Given the description of an element on the screen output the (x, y) to click on. 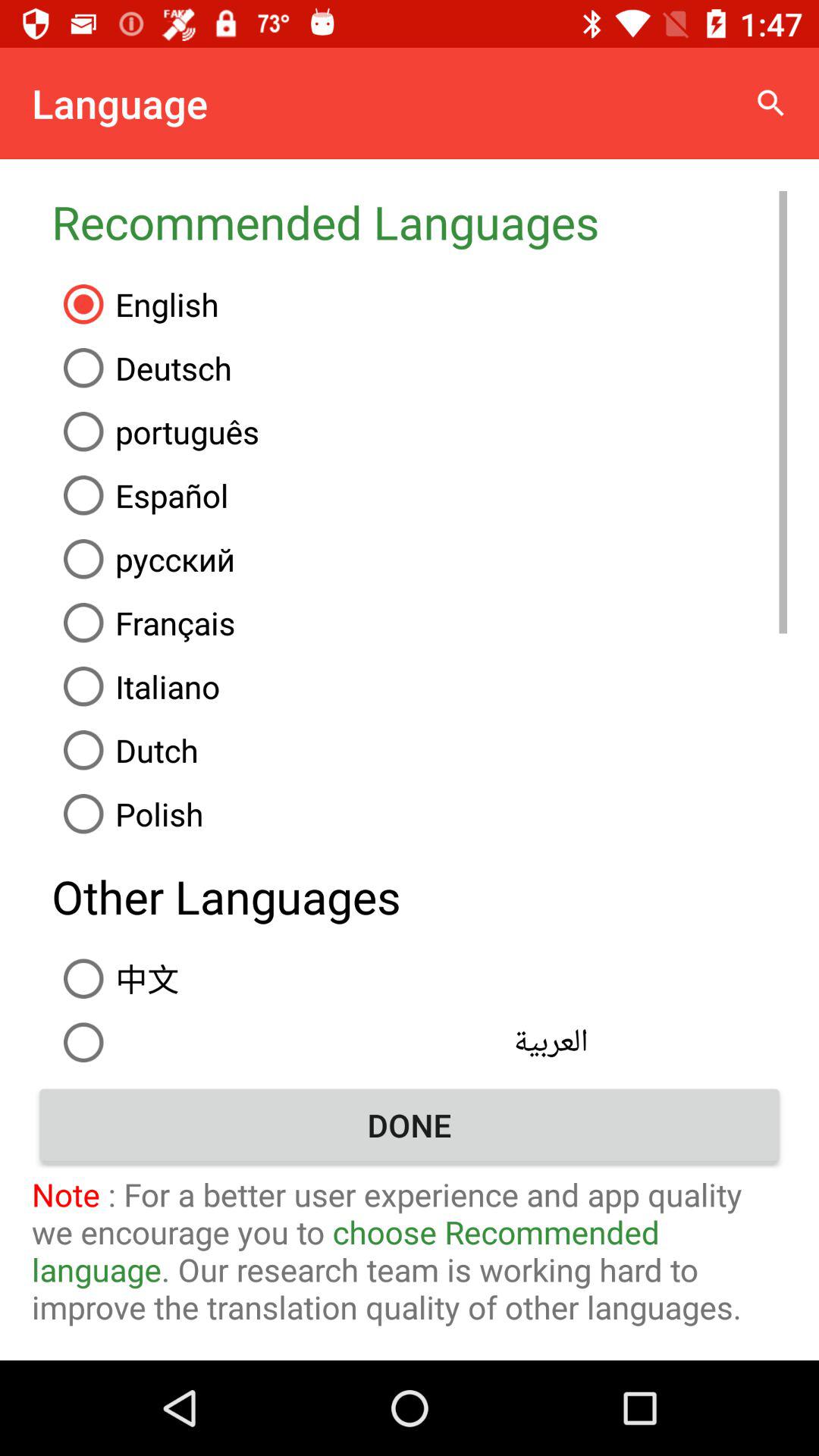
launch the icon below the dutch (419, 813)
